Given the description of an element on the screen output the (x, y) to click on. 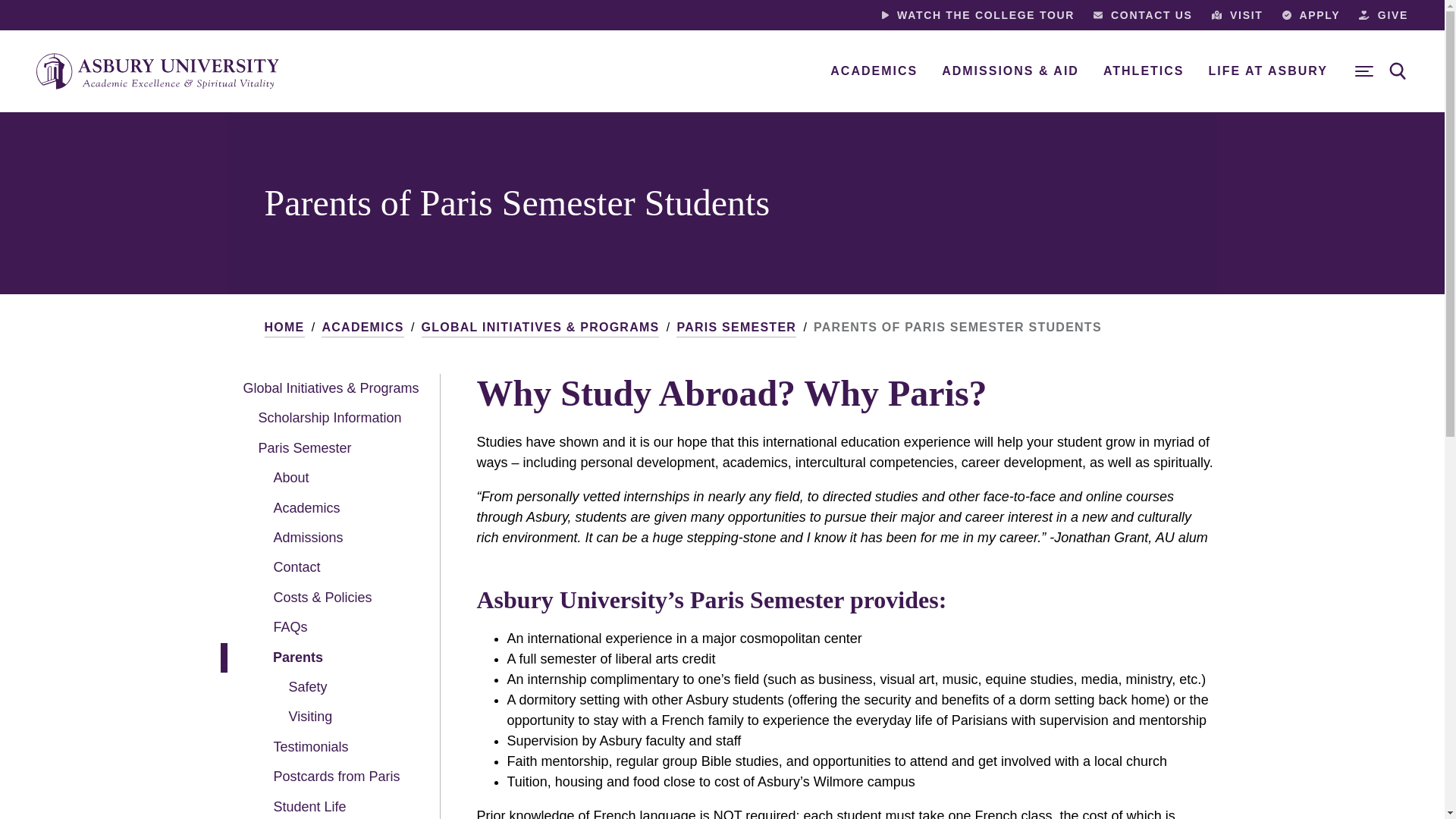
Menu (1363, 70)
HOME (283, 327)
PARIS SEMESTER (736, 327)
ACADEMICS (362, 327)
WATCH THE COLLEGE TOUR (978, 15)
GIVE (1382, 15)
APPLY (1311, 15)
About (326, 478)
LIFE AT ASBURY (1267, 70)
Asbury University (157, 71)
Paris Semester (326, 448)
VISIT (1237, 15)
Search (1398, 71)
Scholarship Information (326, 418)
ACADEMICS (873, 70)
